Given the description of an element on the screen output the (x, y) to click on. 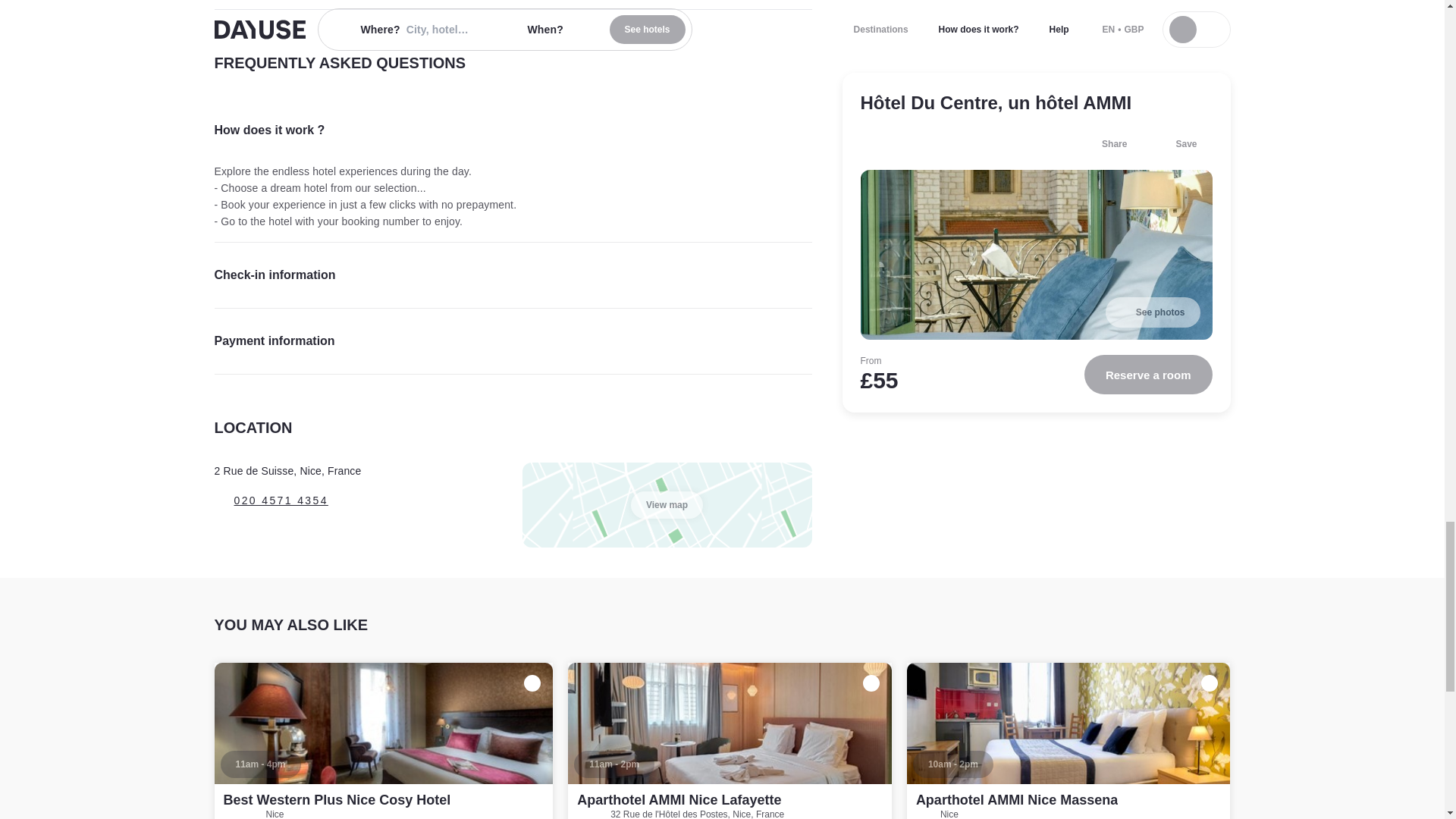
Aparthotel AMMI Nice Massena (1016, 799)
Aparthotel AMMI Nice Lafayette (729, 740)
Aparthotel AMMI Nice Massena (1068, 740)
Best Western Plus Nice Cosy Hotel (335, 799)
Aparthotel AMMI Nice Lafayette (678, 799)
Best Western Plus Nice Cosy Hotel (383, 740)
